Given the description of an element on the screen output the (x, y) to click on. 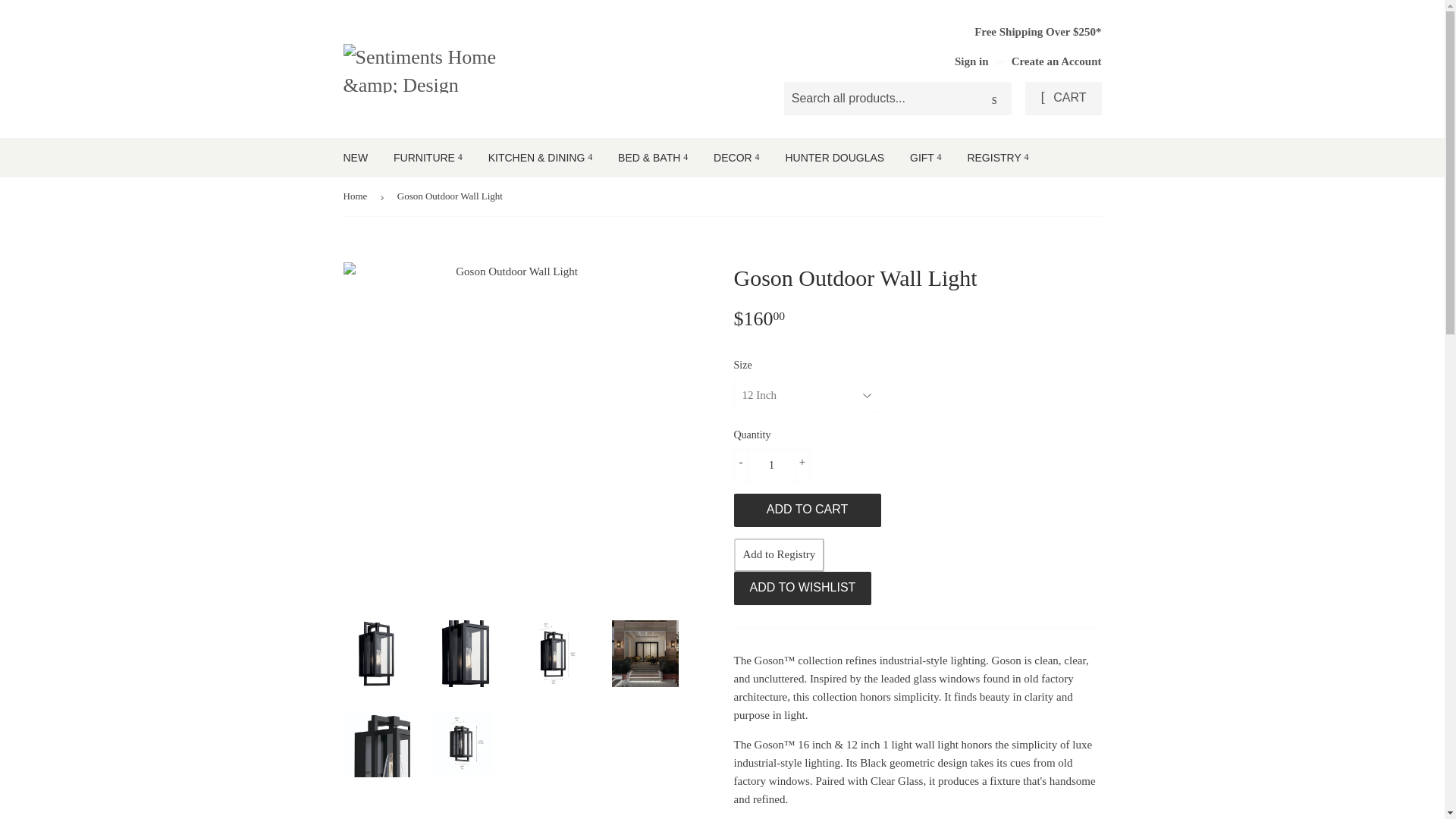
CART (1062, 98)
Sign in (971, 61)
Add to Registry (779, 554)
Create an Account (1056, 61)
Search (993, 99)
Add to Wishlist (802, 588)
1 (771, 465)
